Given the description of an element on the screen output the (x, y) to click on. 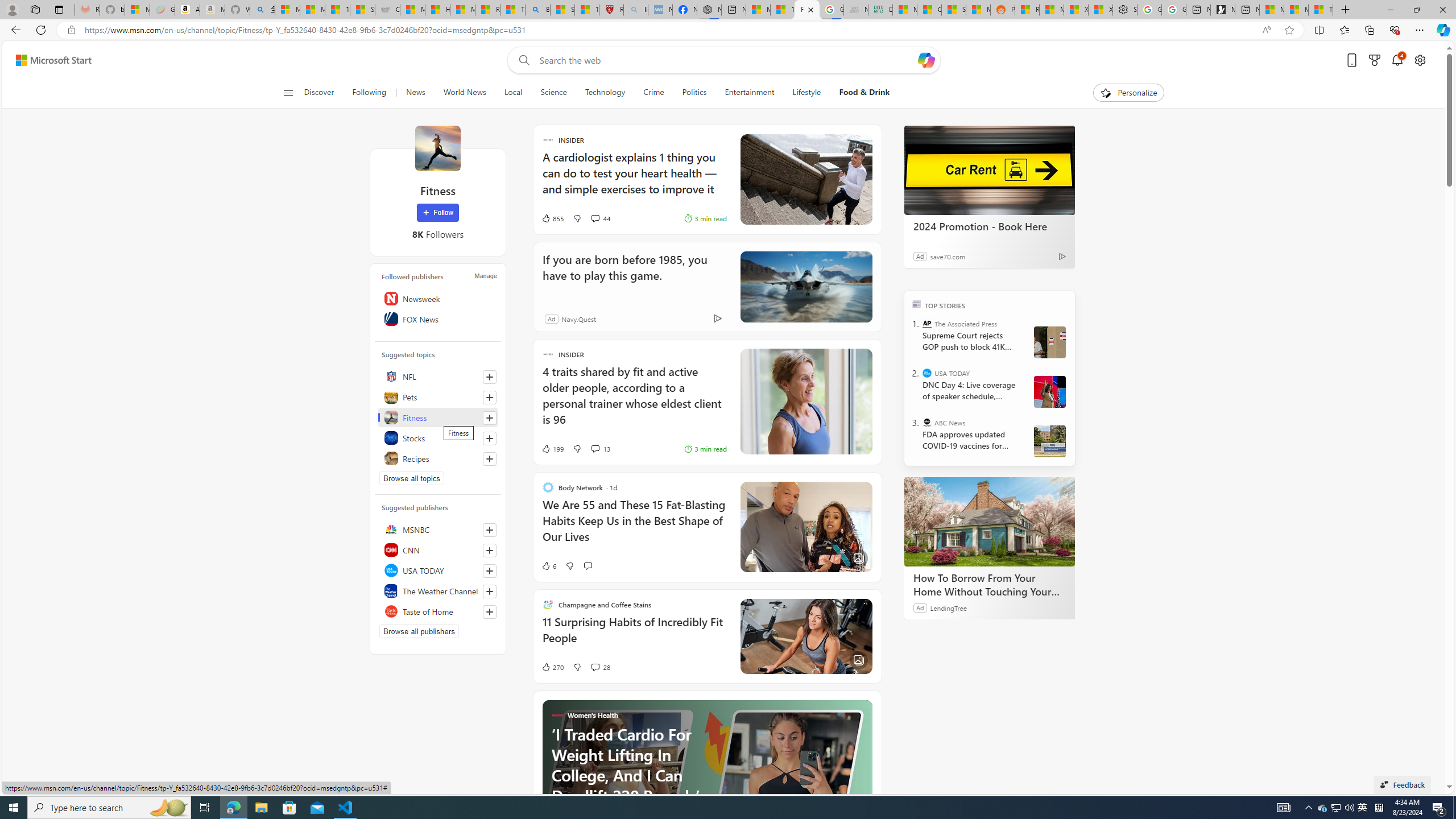
Browse all publishers (419, 631)
If you are born before 1985, you have to play this game. (630, 274)
Taste of Home (437, 610)
Fitness (437, 417)
Combat Siege (386, 9)
Open navigation menu (287, 92)
Follow (437, 212)
View comments 13 Comment (594, 447)
How To Borrow From Your Home Without Touching Your Mortgage (989, 521)
Follow this source (489, 612)
MSNBC (437, 529)
